Given the description of an element on the screen output the (x, y) to click on. 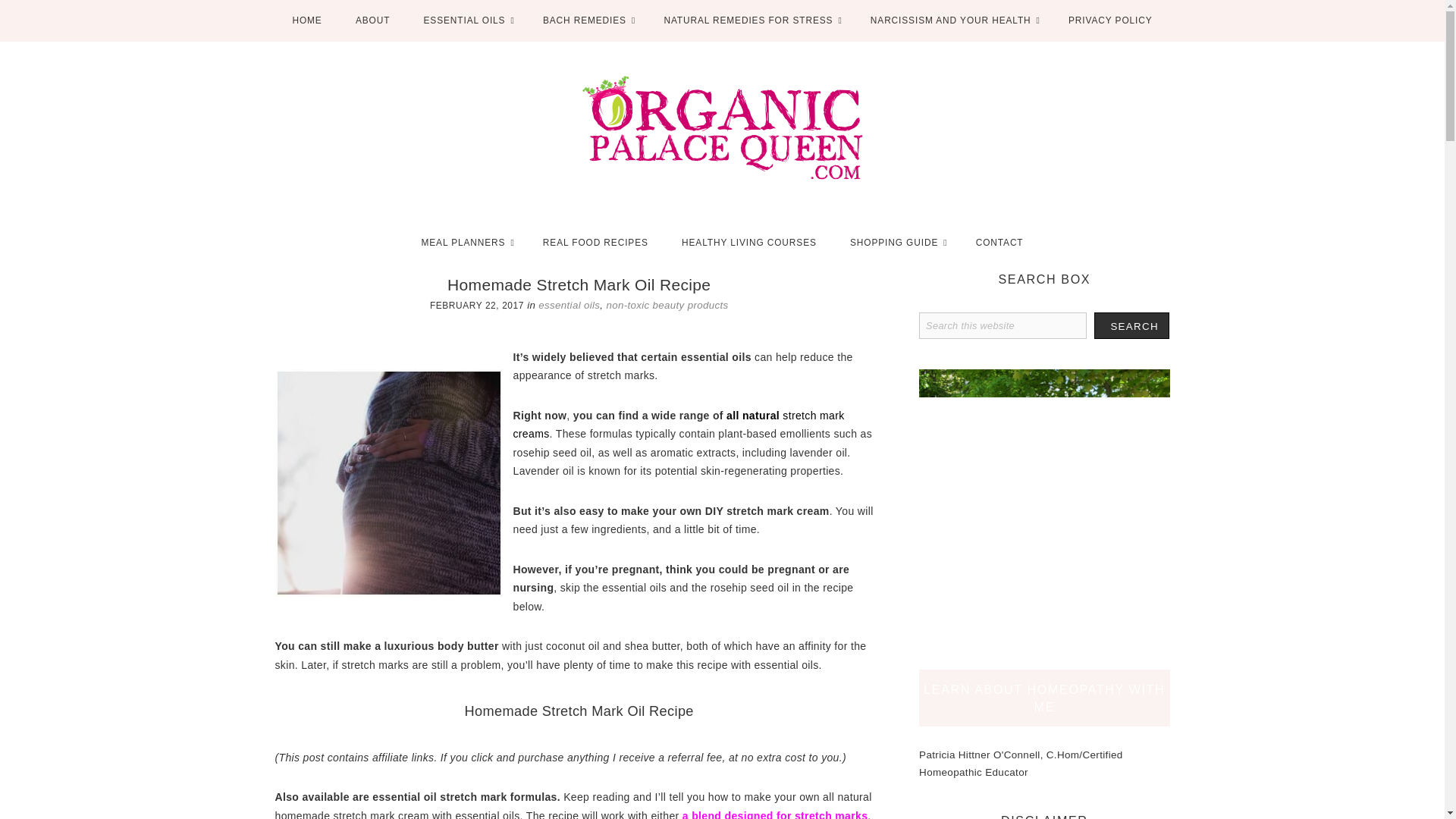
ESSENTIAL OILS (466, 20)
SHOPPING GUIDE (896, 241)
Search (1131, 325)
NATURAL REMEDIES FOR STRESS (749, 20)
MEAL PLANNERS (464, 241)
HEALTHY LIVING COURSES (748, 241)
Search (1131, 325)
NARCISSISM AND YOUR HEALTH (952, 20)
REAL FOOD RECIPES (595, 241)
PRIVACY POLICY (1110, 20)
